Given the description of an element on the screen output the (x, y) to click on. 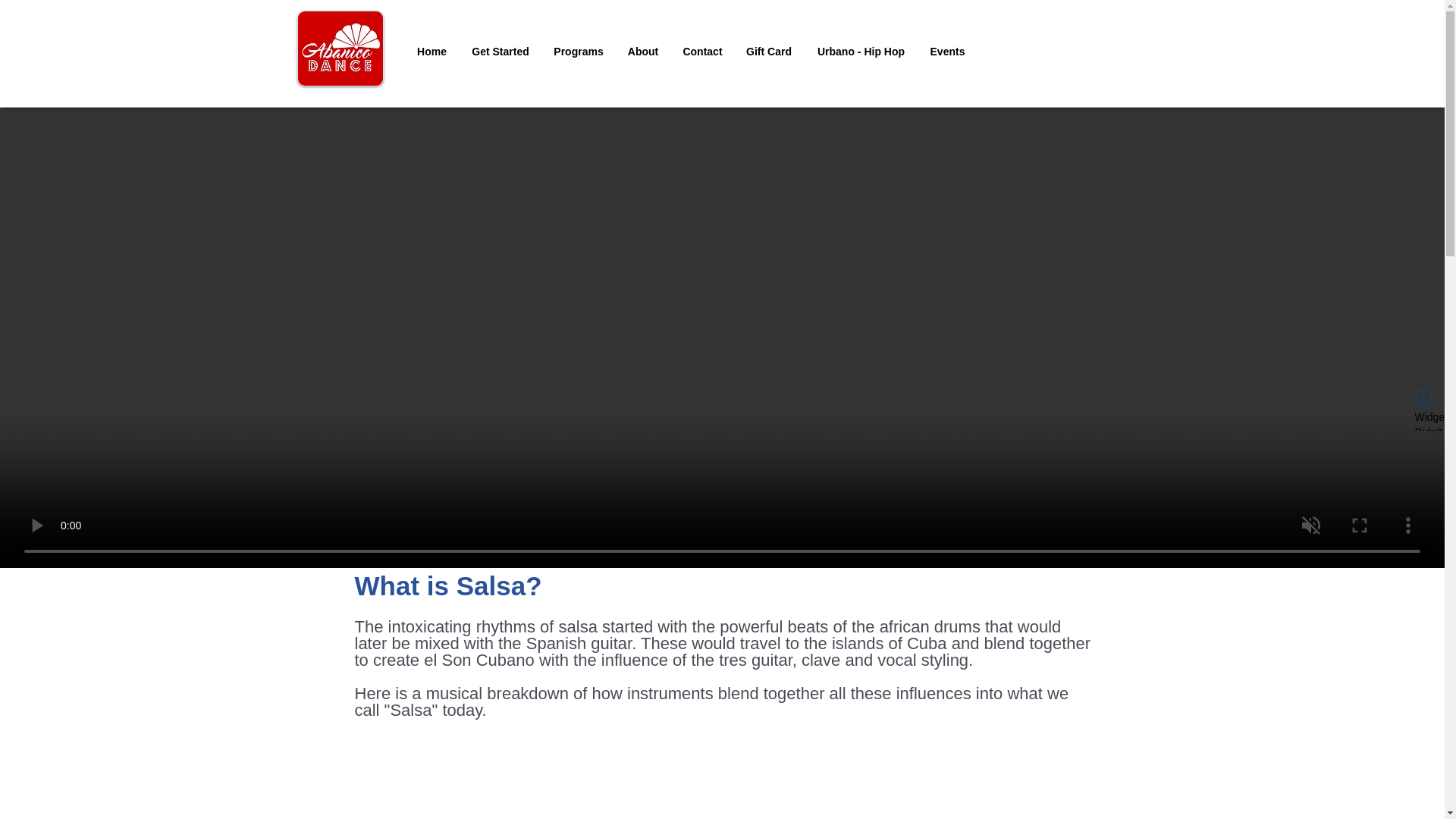
About (643, 51)
Get Started (500, 51)
Urbano - Hip Hop (860, 51)
Events (947, 51)
Home (432, 51)
Contact (701, 51)
Programs (577, 51)
Gift Card (768, 51)
